Given the description of an element on the screen output the (x, y) to click on. 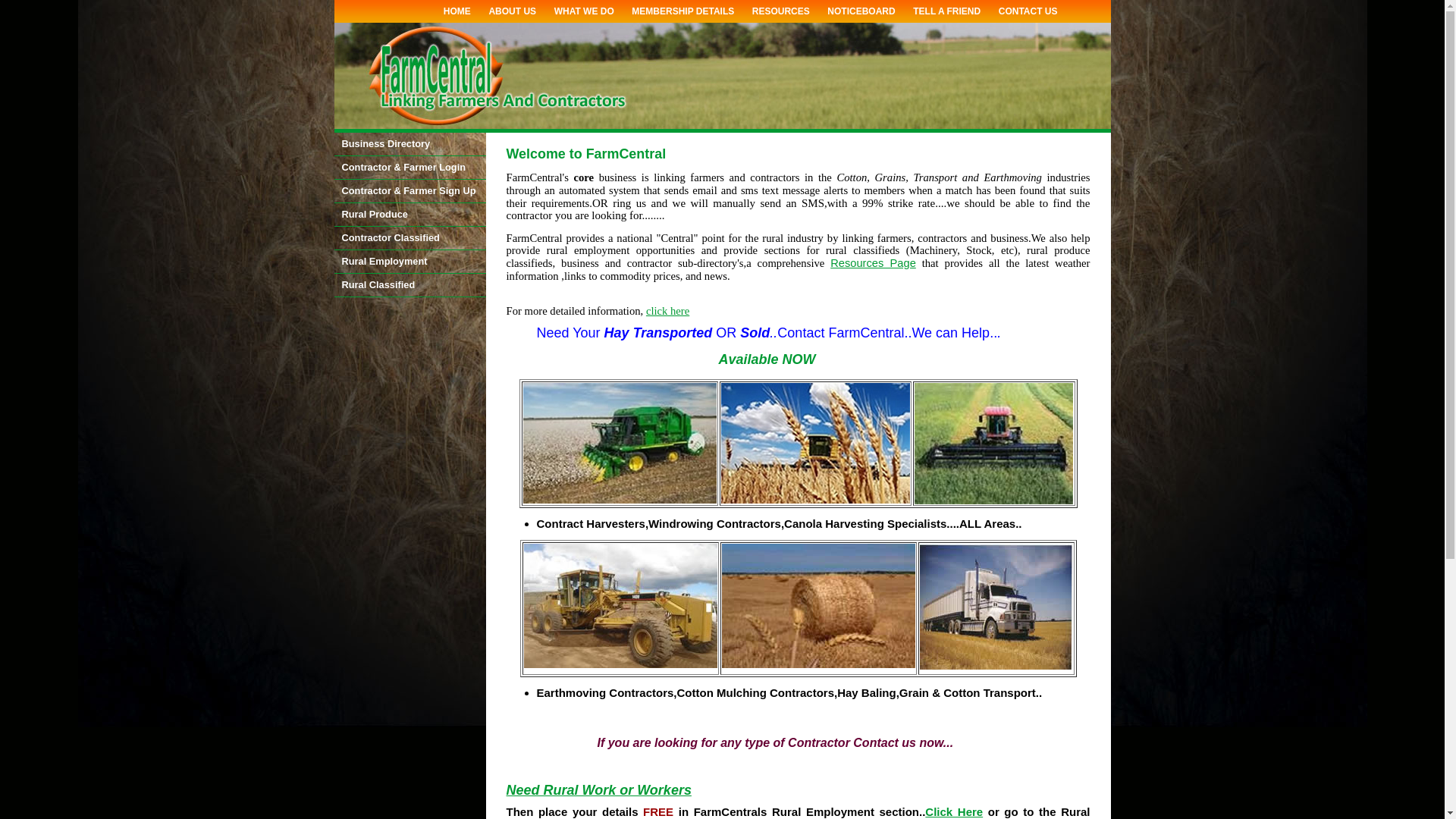
Click Here Element type: text (953, 811)
TELL A FRIEND Element type: text (946, 11)
RESOURCES Element type: text (780, 11)
Rural Produce Element type: text (409, 214)
HOME Element type: text (457, 11)
WHAT WE DO Element type: text (583, 11)
ABOUT US Element type: text (511, 11)
Rural Employment Element type: text (409, 261)
Contractor & Farmer Login Element type: text (409, 167)
NOTICEBOARD Element type: text (860, 11)
click here Element type: text (667, 310)
Business Directory Element type: text (409, 144)
Contractor Classified Element type: text (409, 238)
MEMBERSHIP DETAILS Element type: text (682, 11)
Rural Classified Element type: text (409, 285)
CONTACT US Element type: text (1028, 11)
Resources Page Element type: text (873, 263)
Contractor & Farmer Sign Up Element type: text (409, 191)
